Given the description of an element on the screen output the (x, y) to click on. 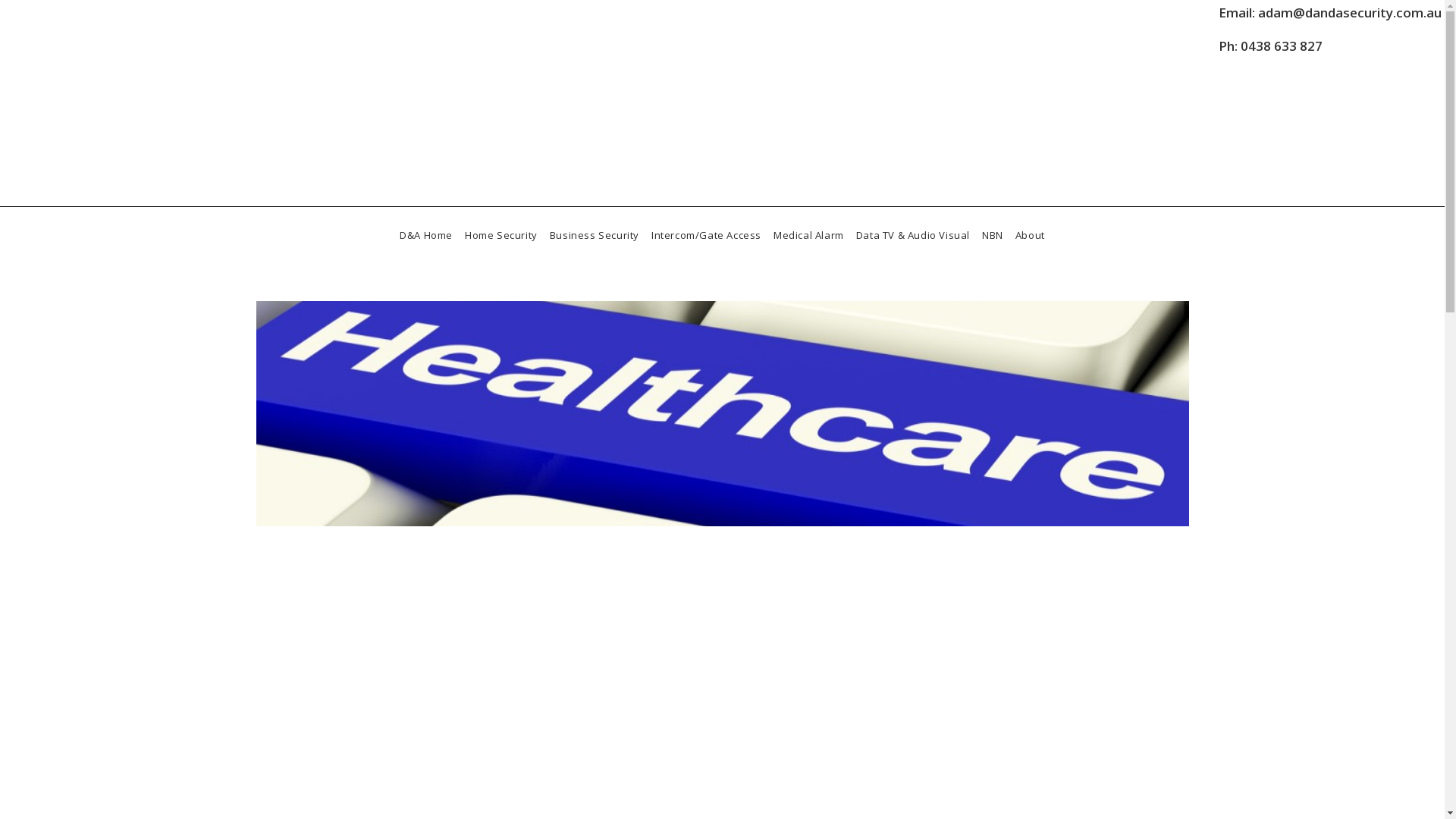
NBN Element type: text (992, 235)
adam@dandasecurity.com.au Element type: text (1349, 12)
Home Security Element type: text (500, 235)
0438 633 827 Element type: text (1281, 45)
Intercom/Gate Access Element type: text (706, 235)
Business Security Element type: text (594, 235)
Medical Alarm Element type: text (808, 235)
About Element type: text (1030, 235)
D&A Home Element type: text (425, 235)
Data TV & Audio Visual Element type: text (912, 235)
